Given the description of an element on the screen output the (x, y) to click on. 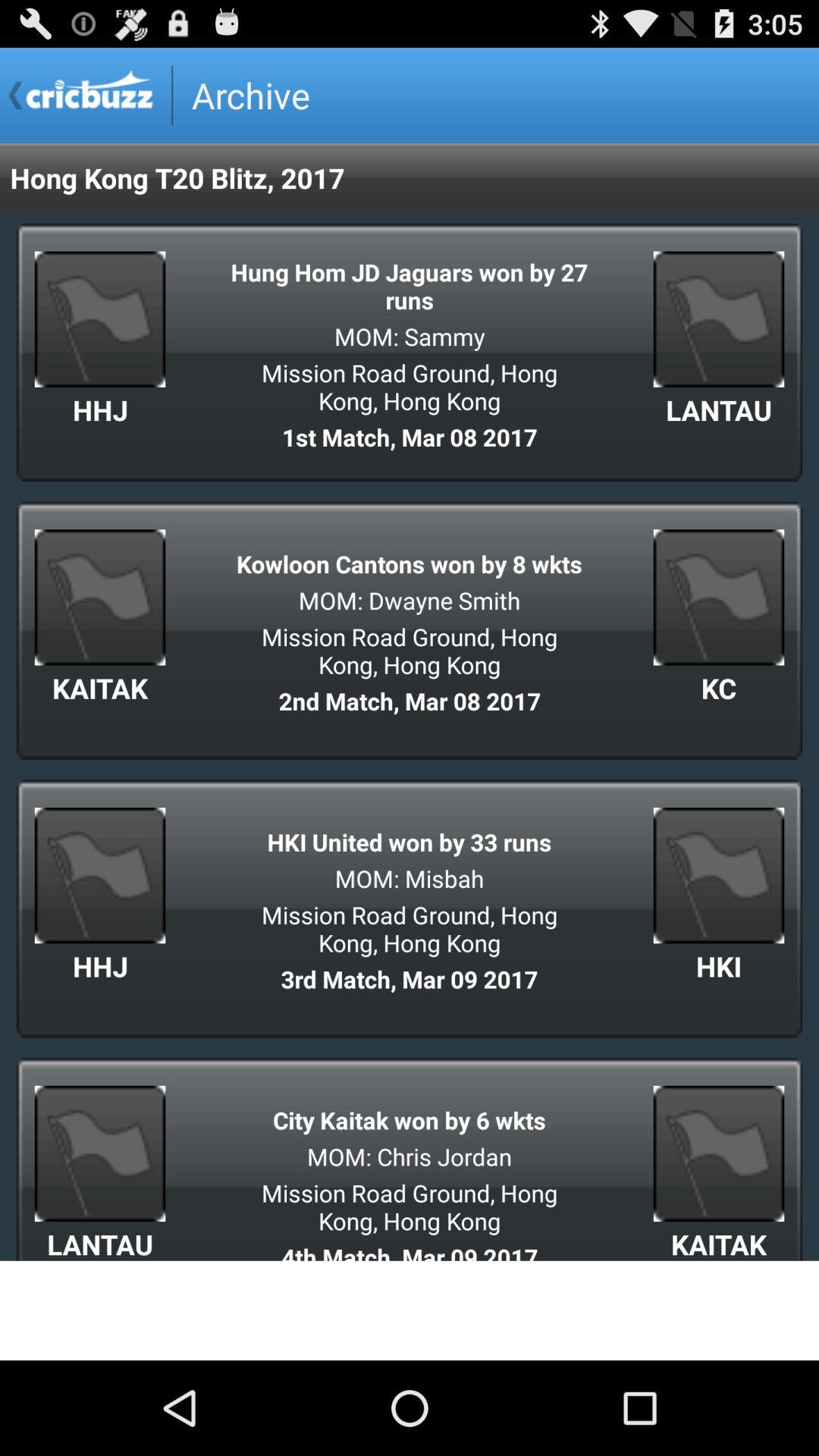
select the item below the 3rd match mar icon (409, 1119)
